Given the description of an element on the screen output the (x, y) to click on. 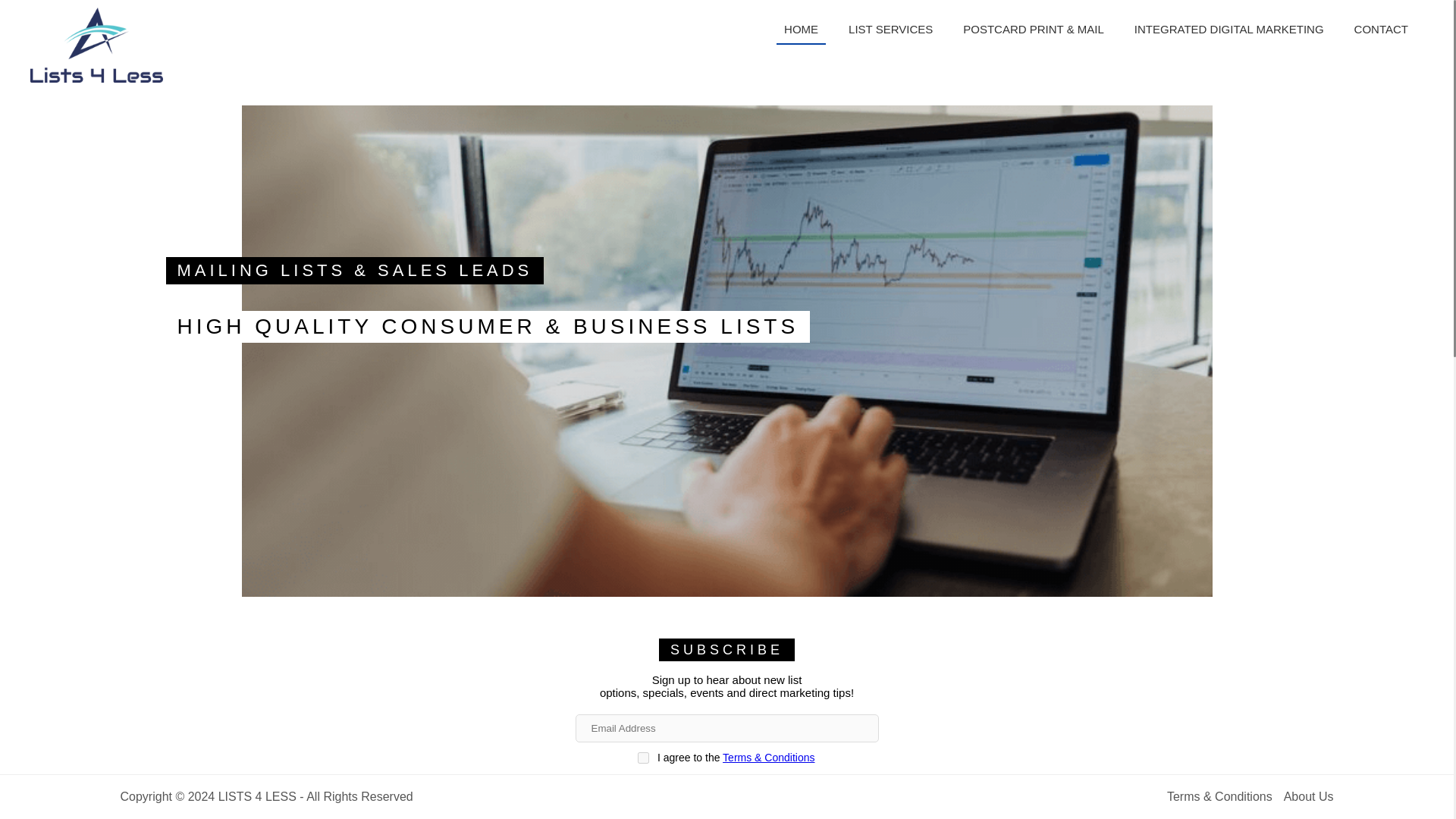
on (642, 757)
HOME (800, 30)
About Us (1308, 796)
INTEGRATED DIGITAL MARKETING (1229, 29)
CONTACT (1380, 29)
LIST SERVICES (890, 29)
SIGN UP (726, 793)
